Given the description of an element on the screen output the (x, y) to click on. 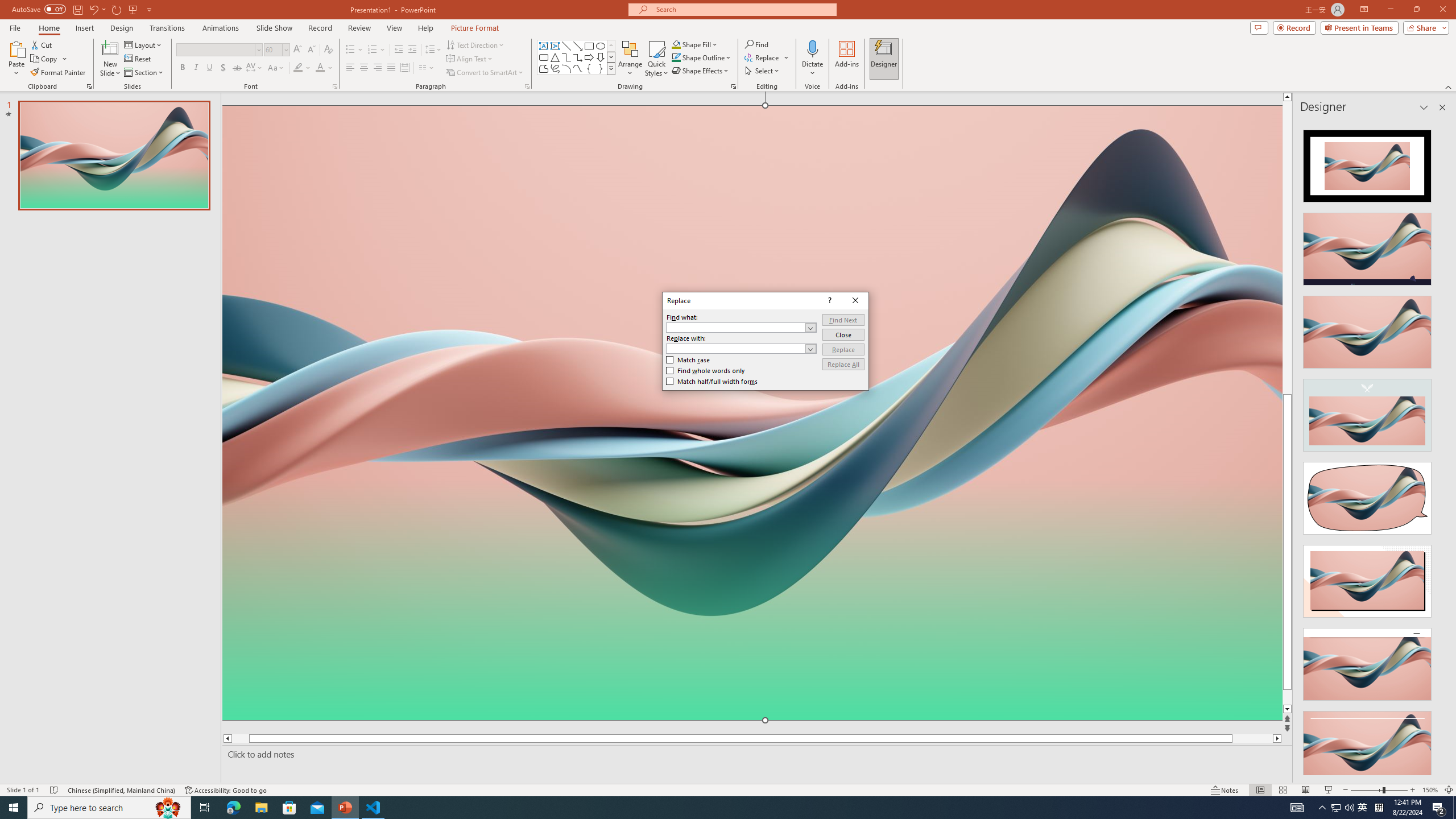
Replace with (735, 347)
